Given the description of an element on the screen output the (x, y) to click on. 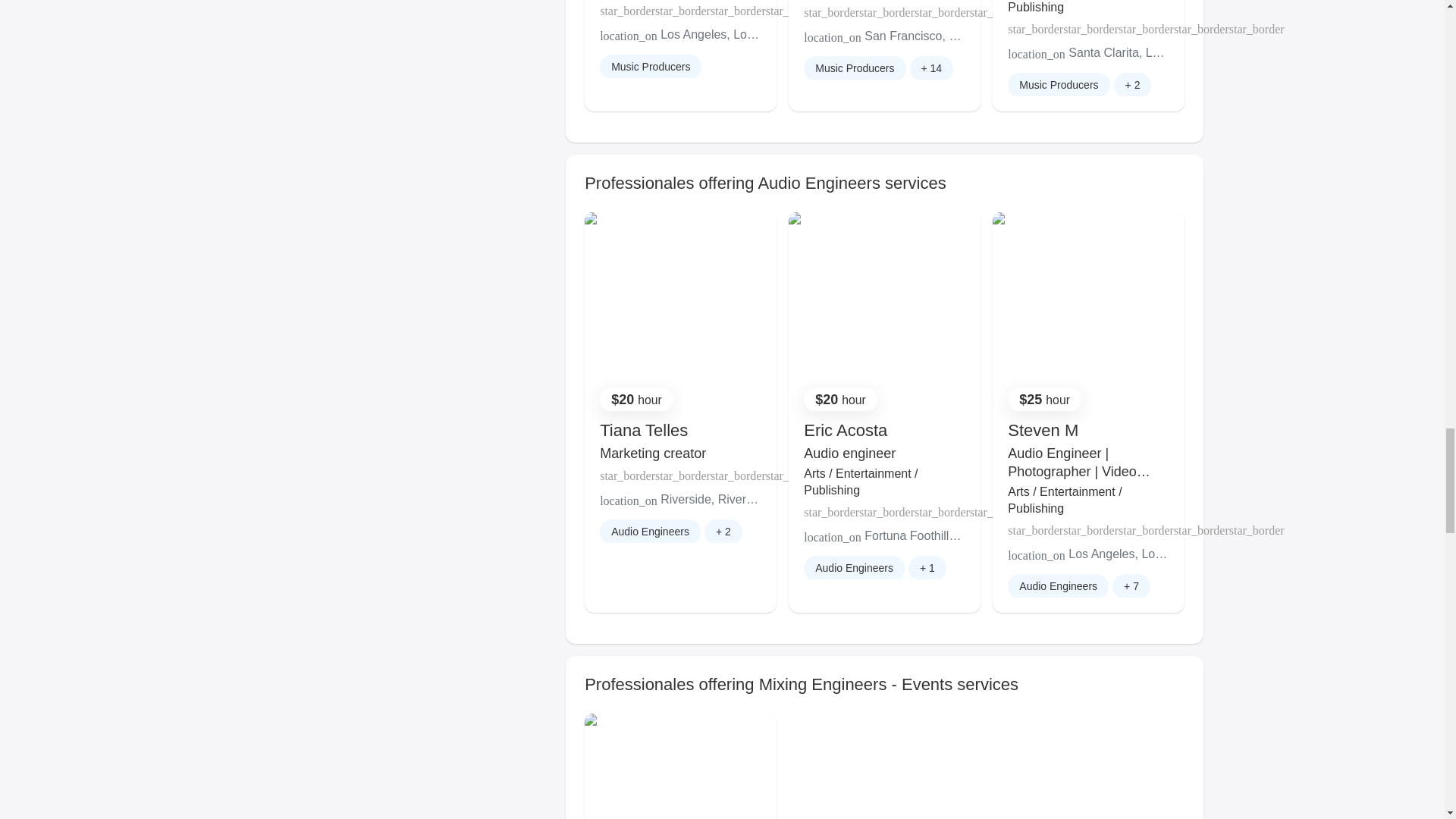
Eric Acosta (844, 429)
Steven  M (1042, 429)
Steven M (1042, 429)
Tiana Telles (643, 429)
Eric Acosta (844, 429)
Tiana Telles (643, 429)
